Given the description of an element on the screen output the (x, y) to click on. 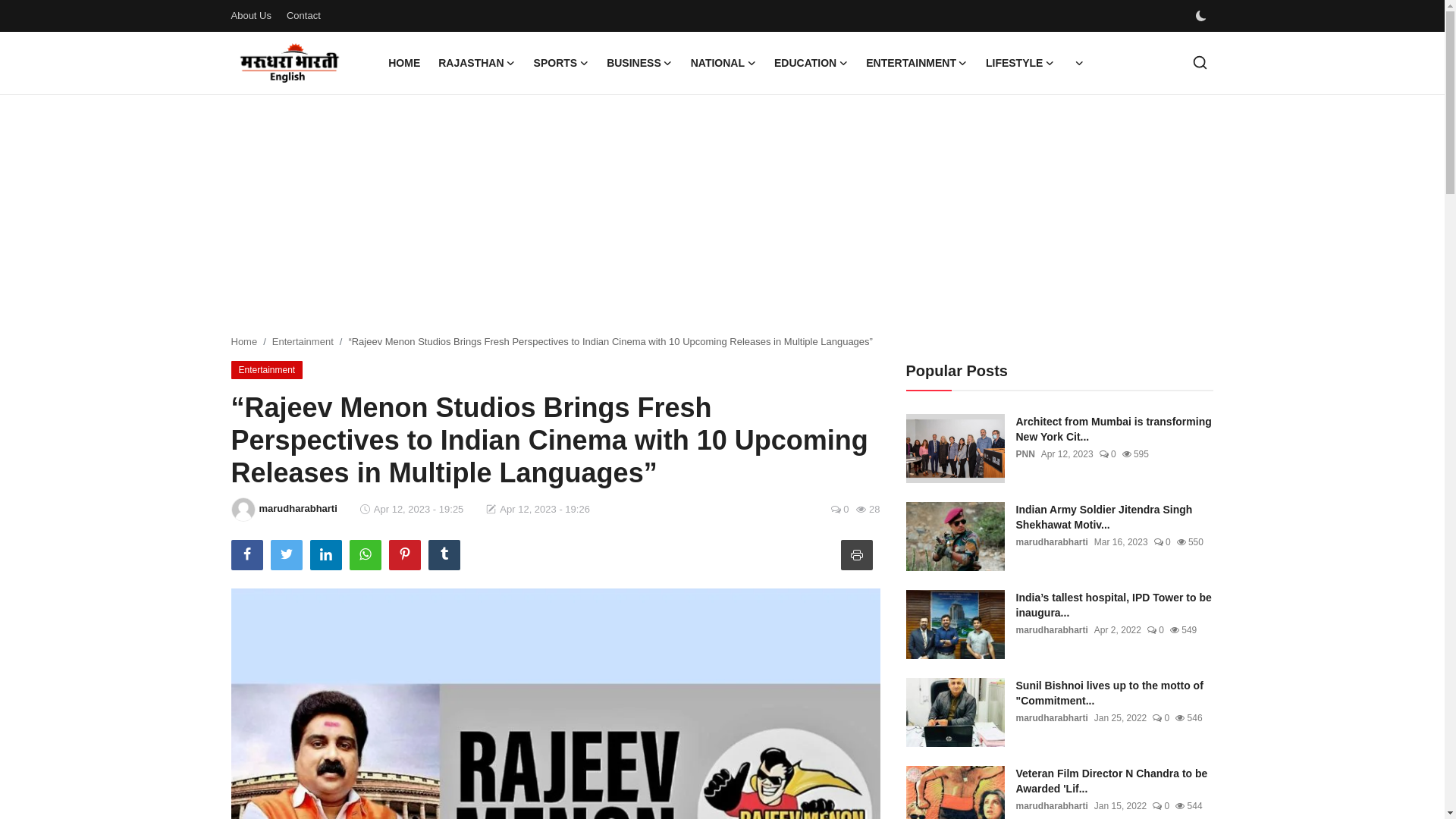
EDUCATION (811, 62)
dark (1200, 15)
ENTERTAINMENT (916, 62)
LIFESTYLE (1019, 62)
BUSINESS (638, 62)
Contact (303, 15)
SPORTS (561, 62)
About Us (250, 15)
RAJASTHAN (476, 62)
NATIONAL (723, 62)
Advertisement (721, 215)
